Given the description of an element on the screen output the (x, y) to click on. 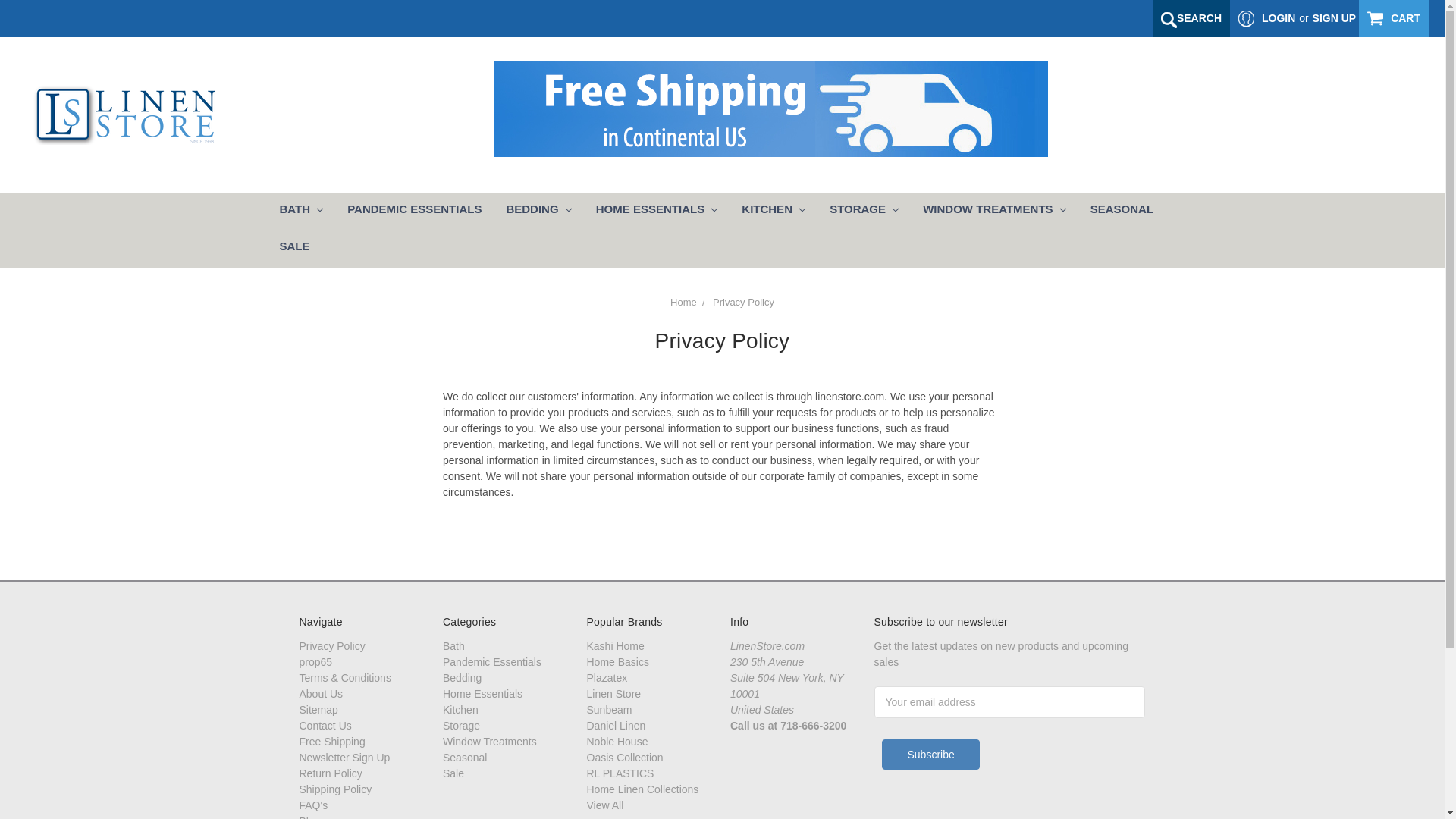
BATH (300, 211)
LOGIN (1266, 18)
KITCHEN (772, 211)
PANDEMIC ESSENTIALS (413, 211)
CART (1393, 18)
SEARCH (1191, 18)
SIGN UP (1334, 18)
BEDDING (538, 211)
HOME ESSENTIALS (656, 211)
